Given the description of an element on the screen output the (x, y) to click on. 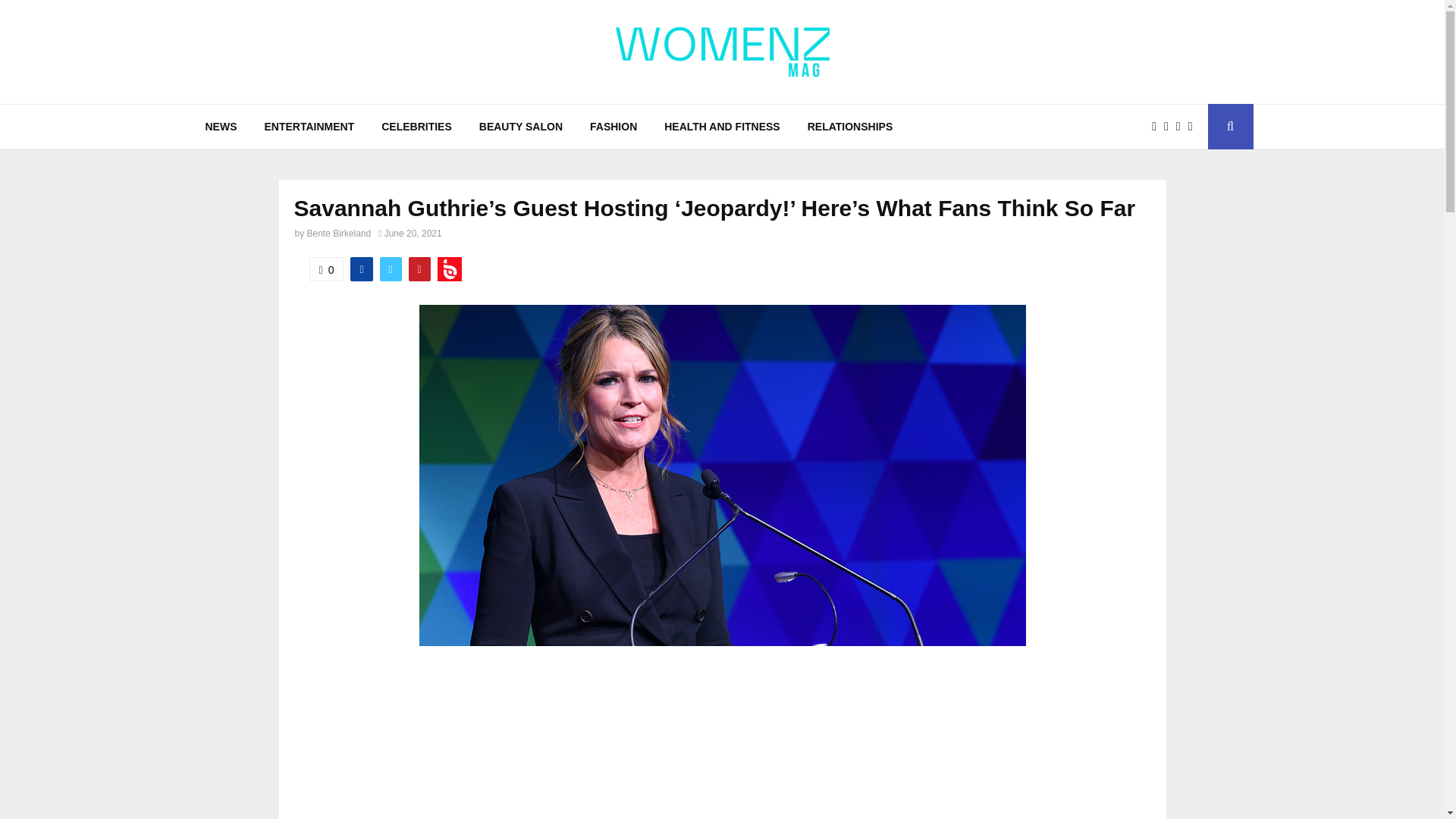
HEALTH AND FITNESS (721, 126)
Like (325, 269)
ENTERTAINMENT (309, 126)
0 (325, 269)
BEAUTY SALON (520, 126)
CELEBRITIES (416, 126)
Bente Birkeland (339, 233)
FASHION (613, 126)
RELATIONSHIPS (850, 126)
Advertisement (722, 748)
NEWS (220, 126)
